Given the description of an element on the screen output the (x, y) to click on. 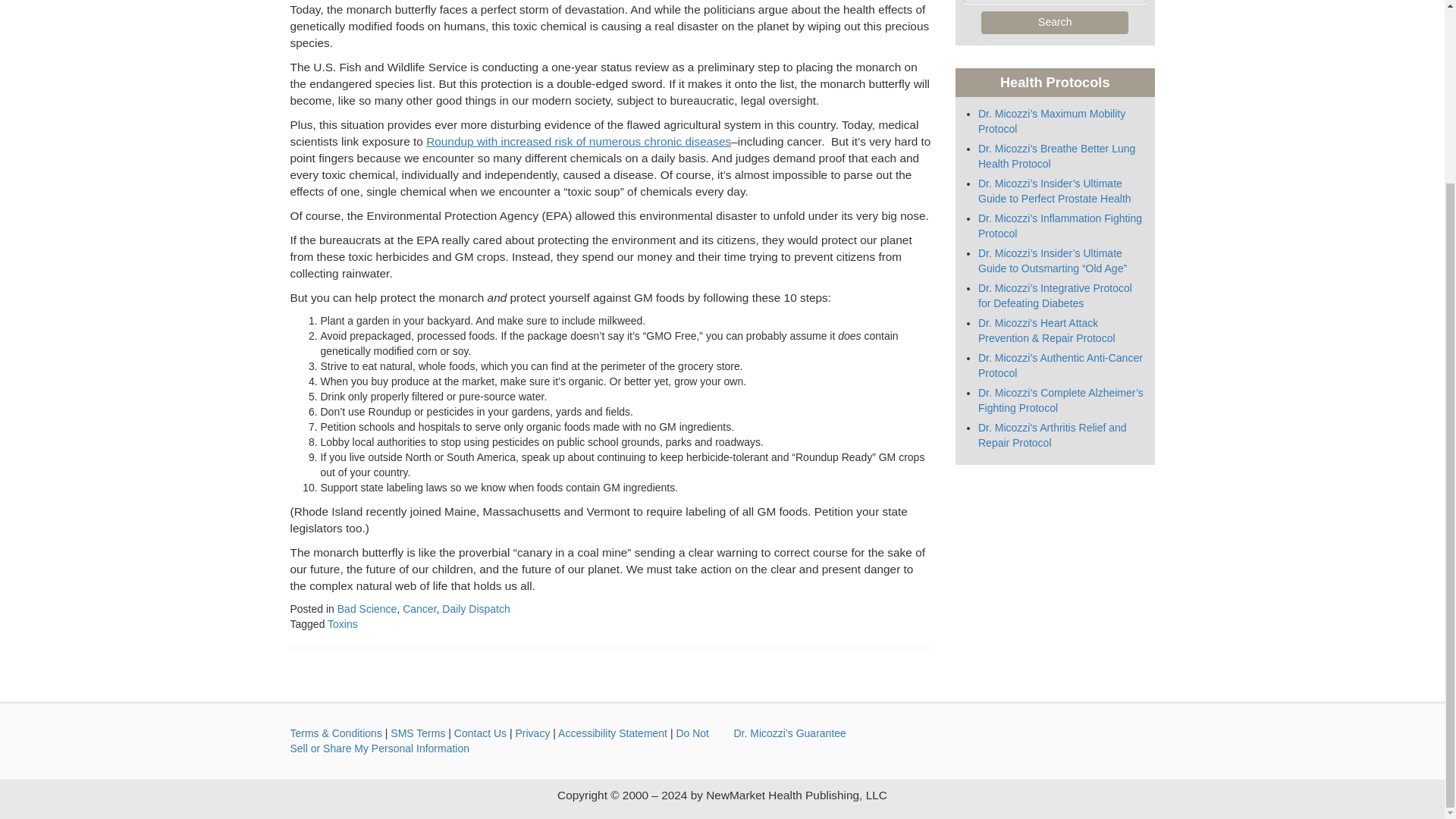
Search (1054, 22)
Privacy (532, 733)
Roundup with increased risk of numerous chronic diseases (578, 141)
Search (1054, 22)
Accessibility Statement (611, 733)
SMS Terms (417, 733)
Cancer (419, 608)
Contact Us (480, 733)
Toxins (342, 623)
Do Not Sell or Share My Personal Information (499, 740)
